Given the description of an element on the screen output the (x, y) to click on. 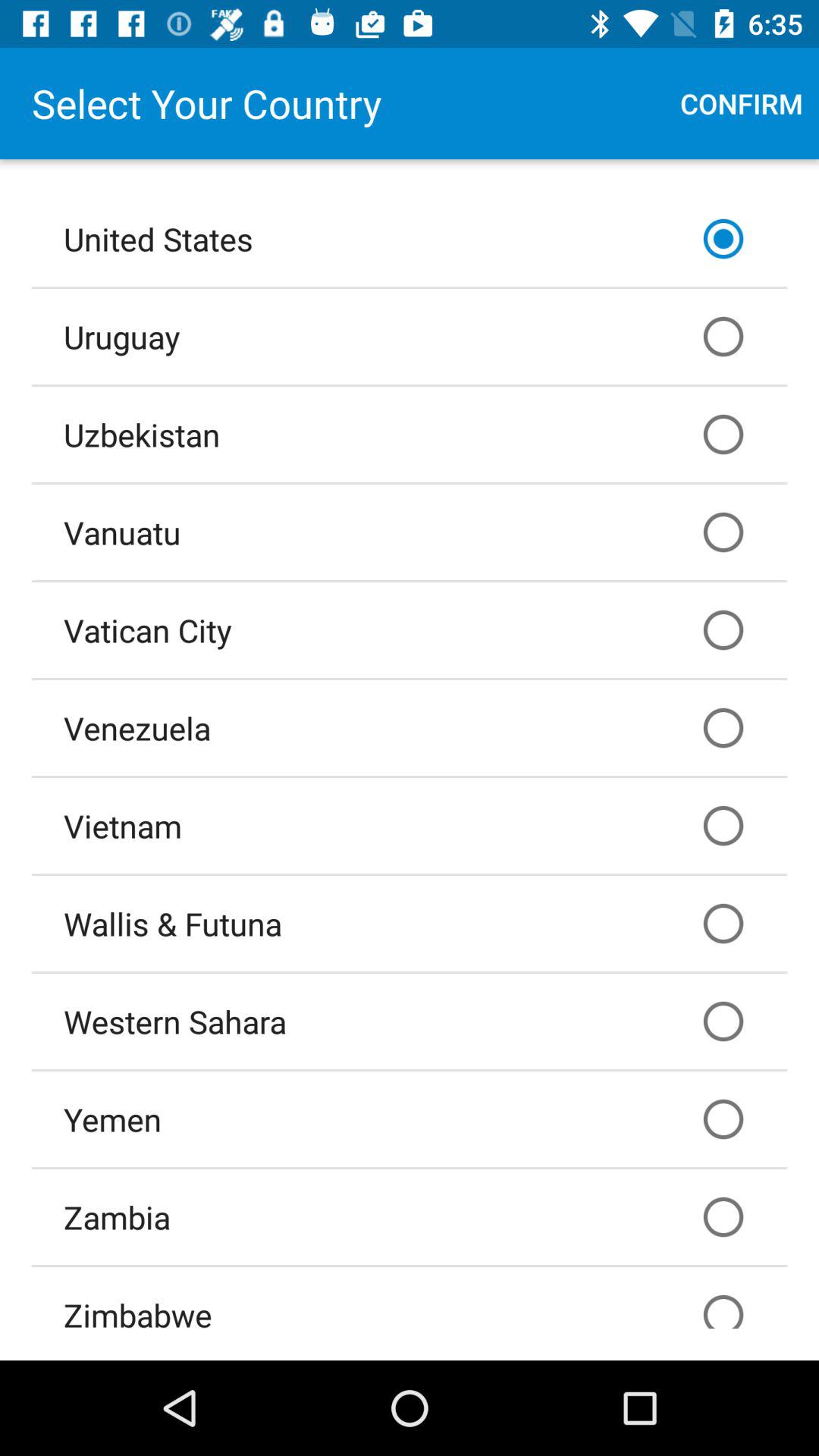
tap the item below united states icon (409, 336)
